Given the description of an element on the screen output the (x, y) to click on. 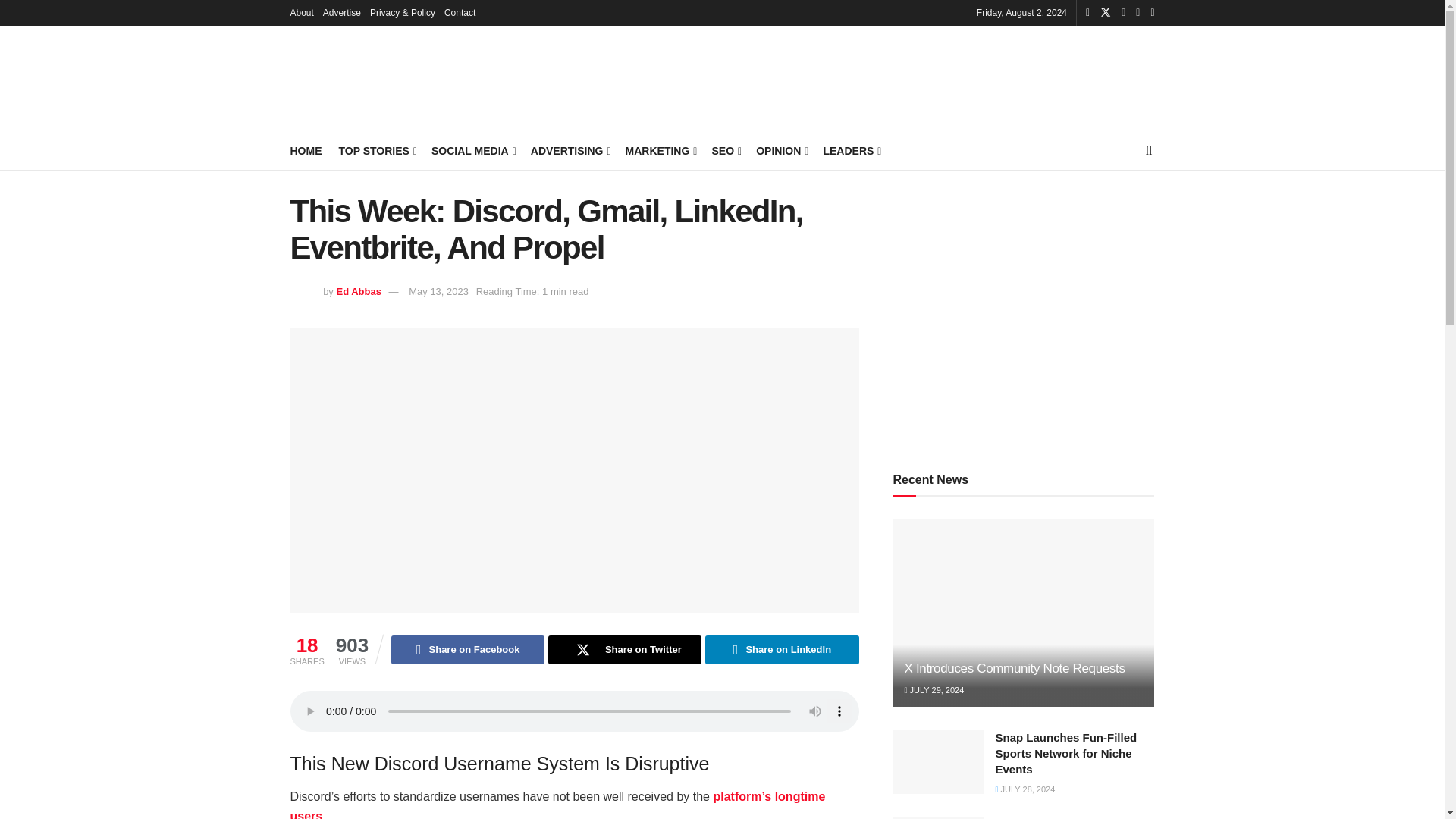
HOME (305, 150)
About (301, 12)
SOCIAL MEDIA (471, 150)
ADVERTISING (569, 150)
TOP STORIES (375, 150)
Advertise (342, 12)
Contact (460, 12)
